Given the description of an element on the screen output the (x, y) to click on. 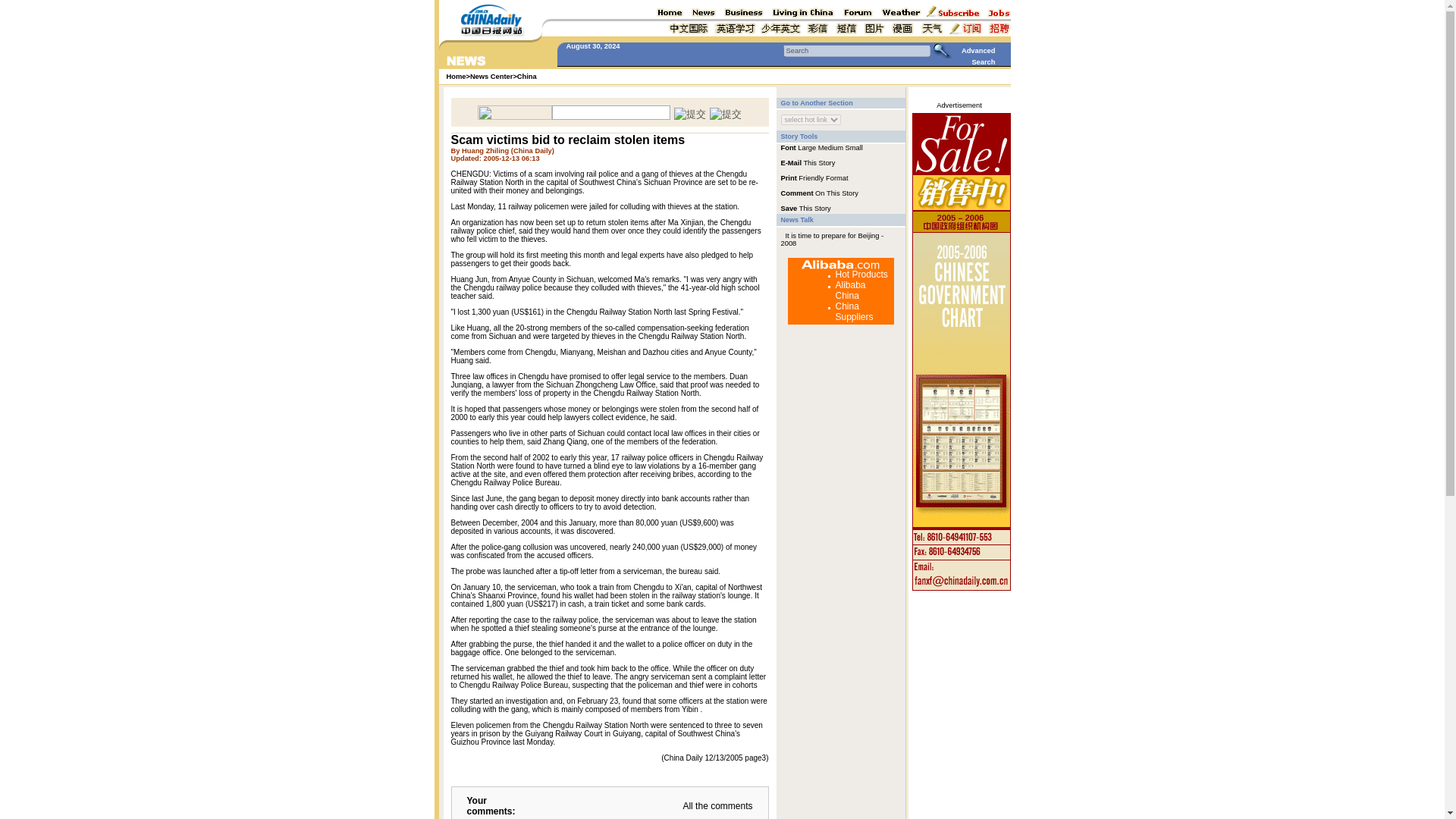
Small (854, 147)
Medium (830, 147)
Print Friendly Format (814, 176)
Hot Products (861, 274)
E-Mail This Story (807, 162)
China Suppliers (854, 311)
China Suppliers (854, 311)
It is time to prepare for Beijing - 2008 (831, 239)
Search (856, 50)
Hot Products (861, 274)
